Given the description of an element on the screen output the (x, y) to click on. 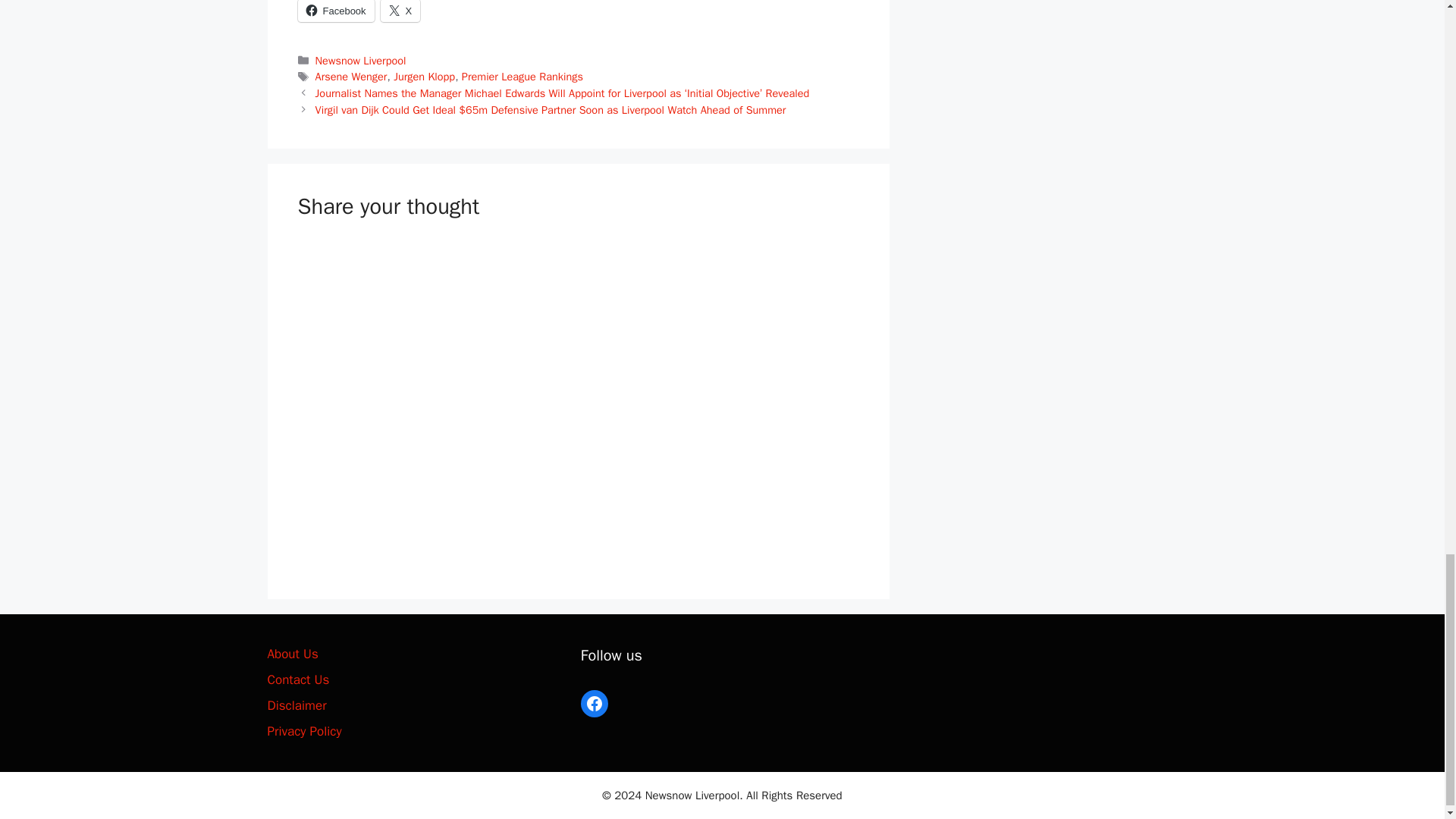
X (400, 11)
Premier League Rankings (522, 76)
Arsene Wenger (351, 76)
Newsnow Liverpool (360, 59)
Click to share on Facebook (335, 11)
Jurgen Klopp (423, 76)
Facebook (335, 11)
Click to share on X (400, 11)
